Given the description of an element on the screen output the (x, y) to click on. 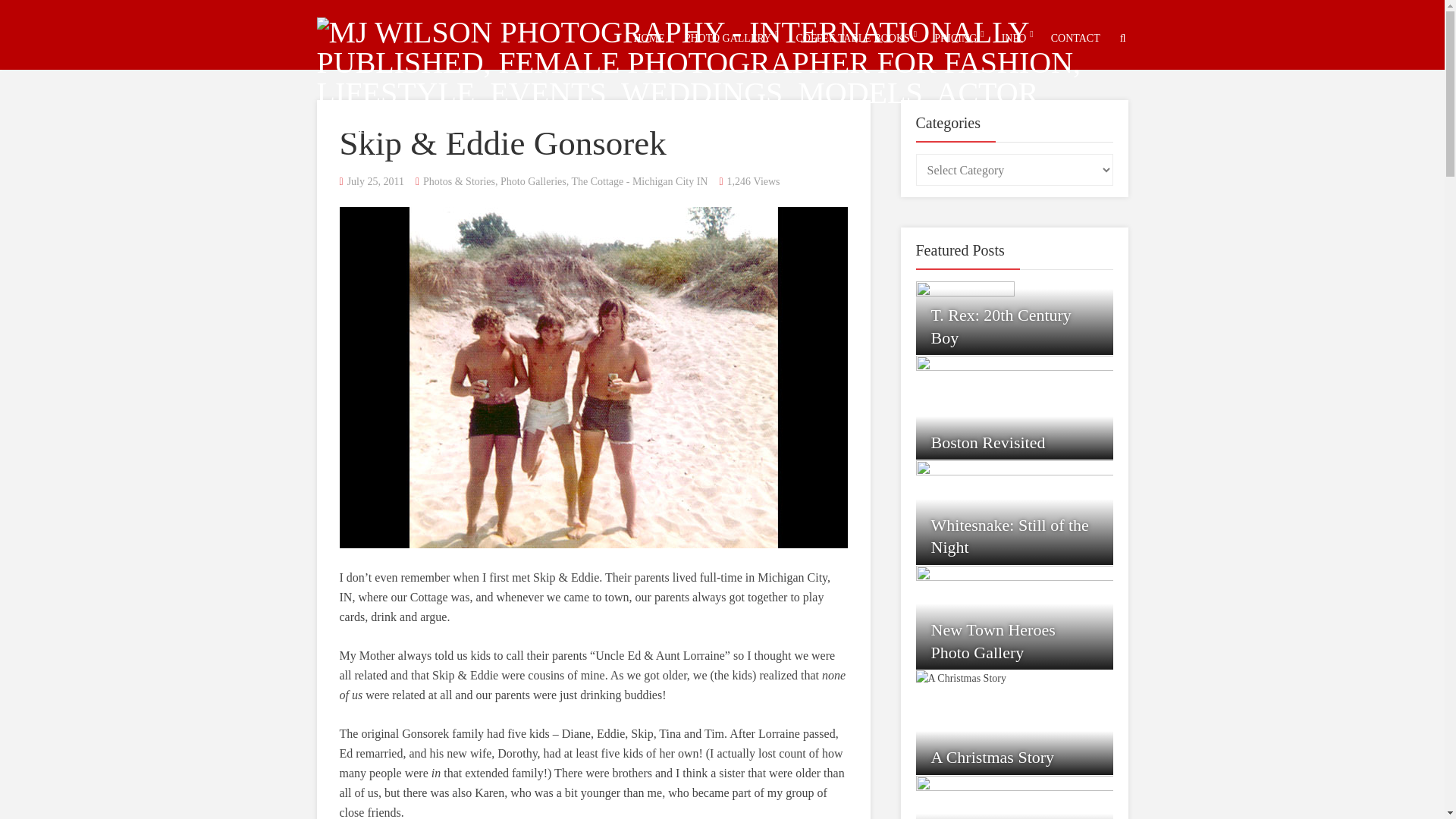
The Cottage - Michigan City IN (638, 181)
COFFEE TABLE BOOKS (852, 38)
Photo Galleries (533, 181)
PHOTO GALLERY (727, 38)
